Given the description of an element on the screen output the (x, y) to click on. 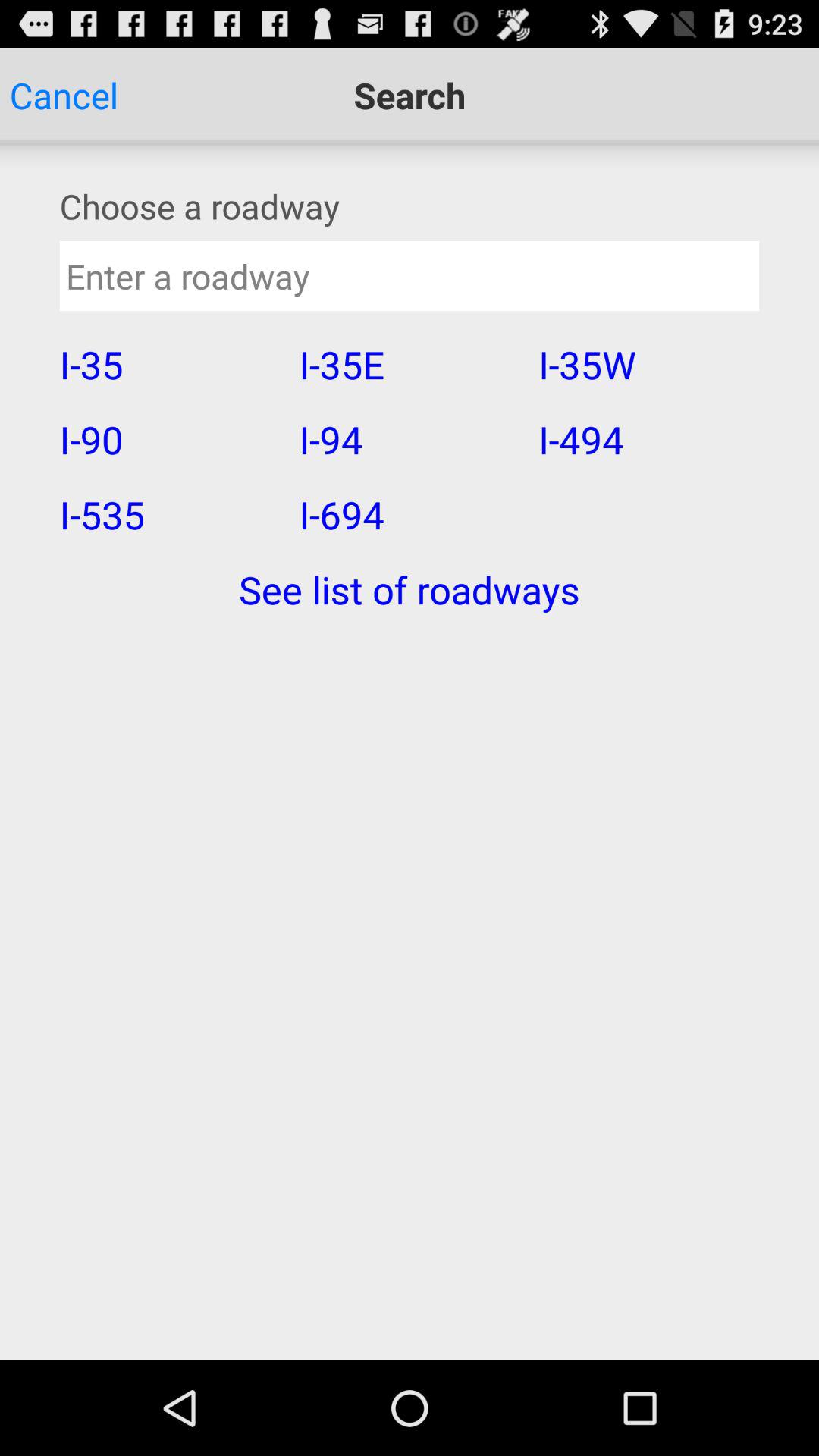
road way searching box (409, 276)
